Given the description of an element on the screen output the (x, y) to click on. 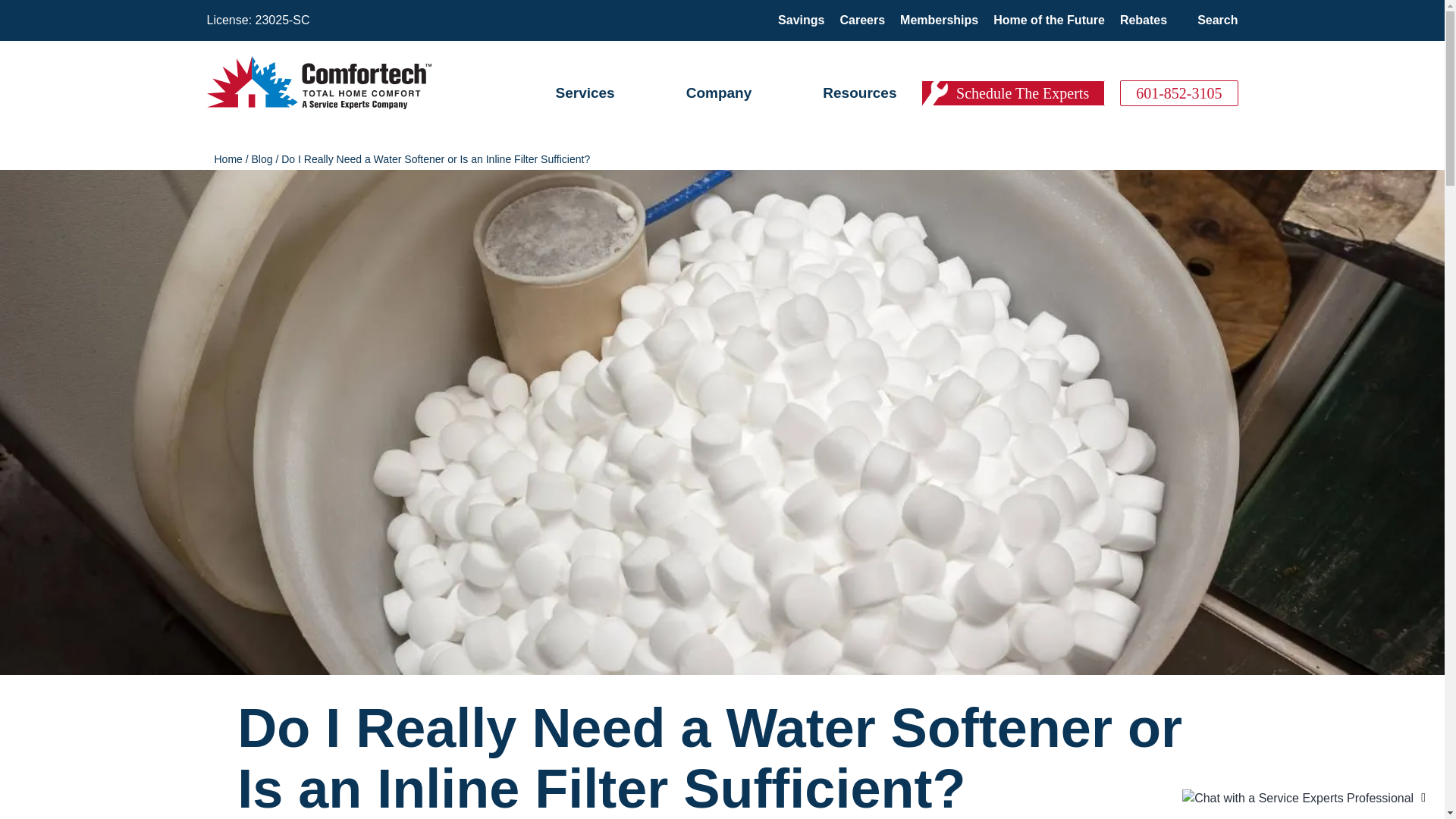
601-852-3105 (1178, 93)
Resources (859, 92)
Memberships (938, 19)
Savings (800, 19)
Careers (862, 19)
Company (718, 92)
Search (1216, 19)
Schedule The Experts (1013, 93)
Services (584, 92)
Home of the Future (1048, 19)
